Given the description of an element on the screen output the (x, y) to click on. 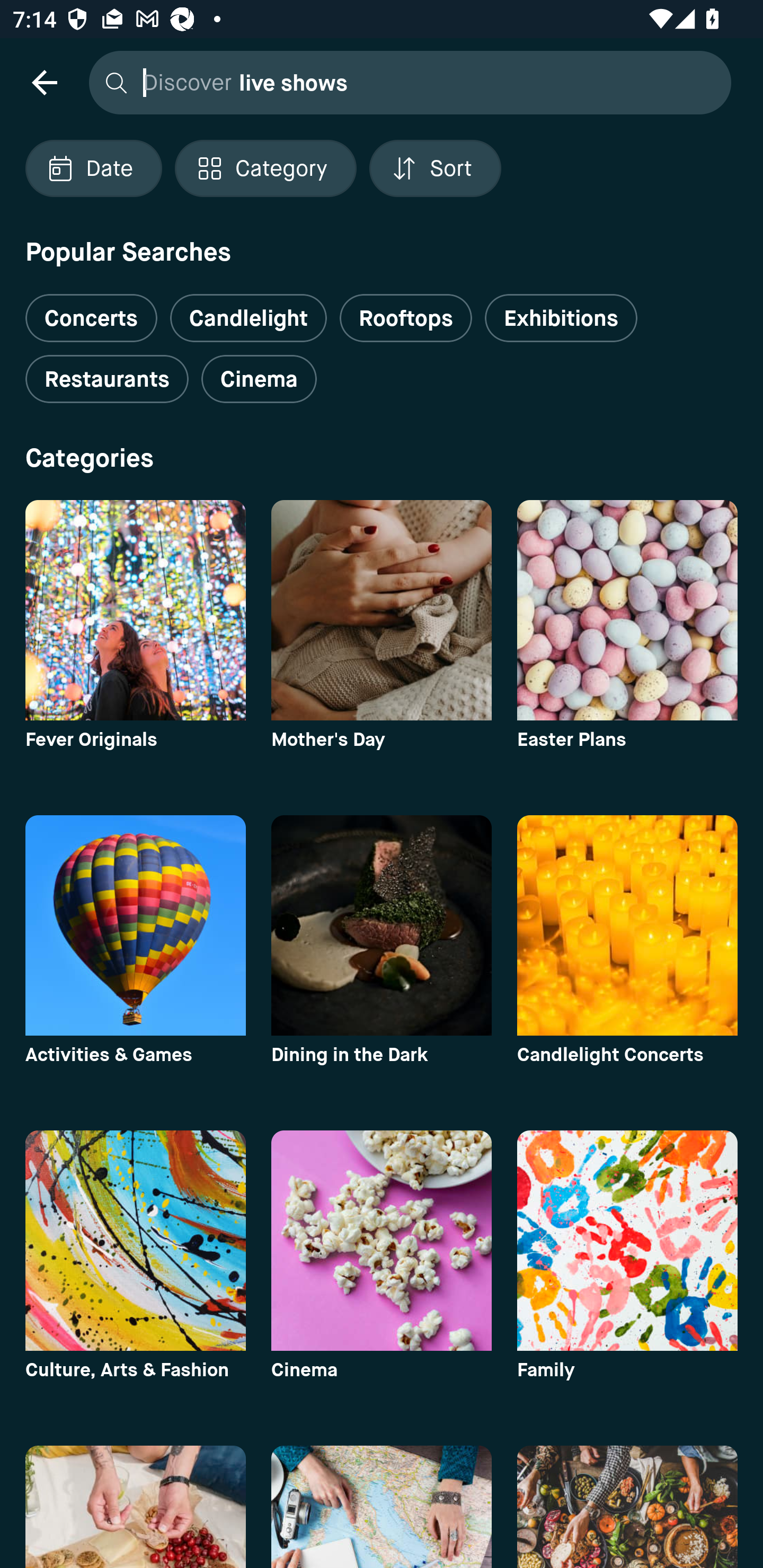
navigation icon (44, 81)
Discover live shows (405, 81)
Localized description Date (93, 168)
Localized description Category (265, 168)
Localized description Sort (435, 168)
Concerts (91, 310)
Candlelight (248, 317)
Rooftops (405, 317)
Exhibitions (560, 317)
Restaurants (106, 379)
Cinema (258, 379)
category image (135, 609)
category image (381, 609)
category image (627, 609)
category image (135, 924)
category image (381, 924)
category image (627, 924)
category image (135, 1240)
category image (381, 1240)
category image (627, 1240)
category image (135, 1506)
category image (381, 1506)
category image (627, 1506)
